Given the description of an element on the screen output the (x, y) to click on. 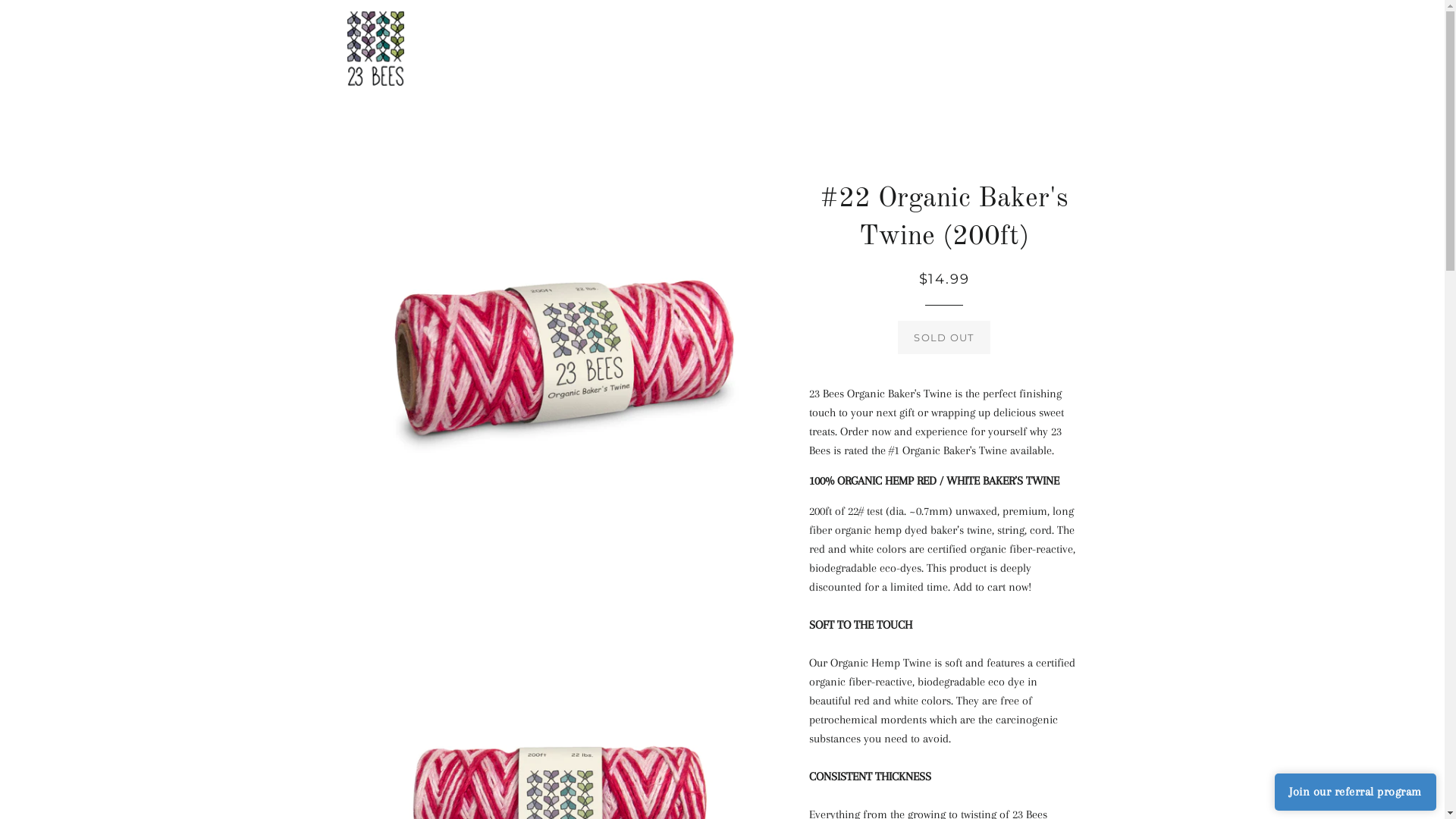
SOLD OUT Element type: text (943, 337)
